Given the description of an element on the screen output the (x, y) to click on. 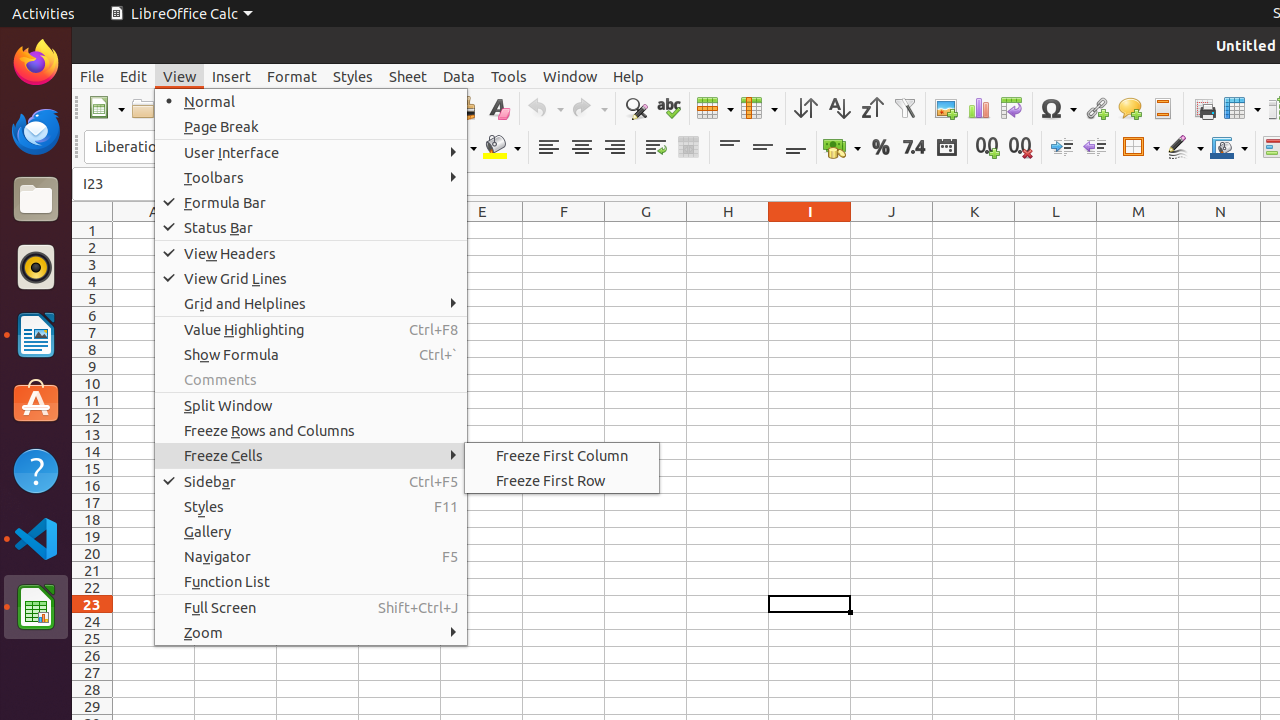
Align Left Element type: push-button (548, 147)
Align Top Element type: push-button (729, 147)
G1 Element type: table-cell (646, 230)
Pivot Table Element type: push-button (1011, 108)
Borders (Shift to overwrite) Element type: push-button (1141, 147)
